Given the description of an element on the screen output the (x, y) to click on. 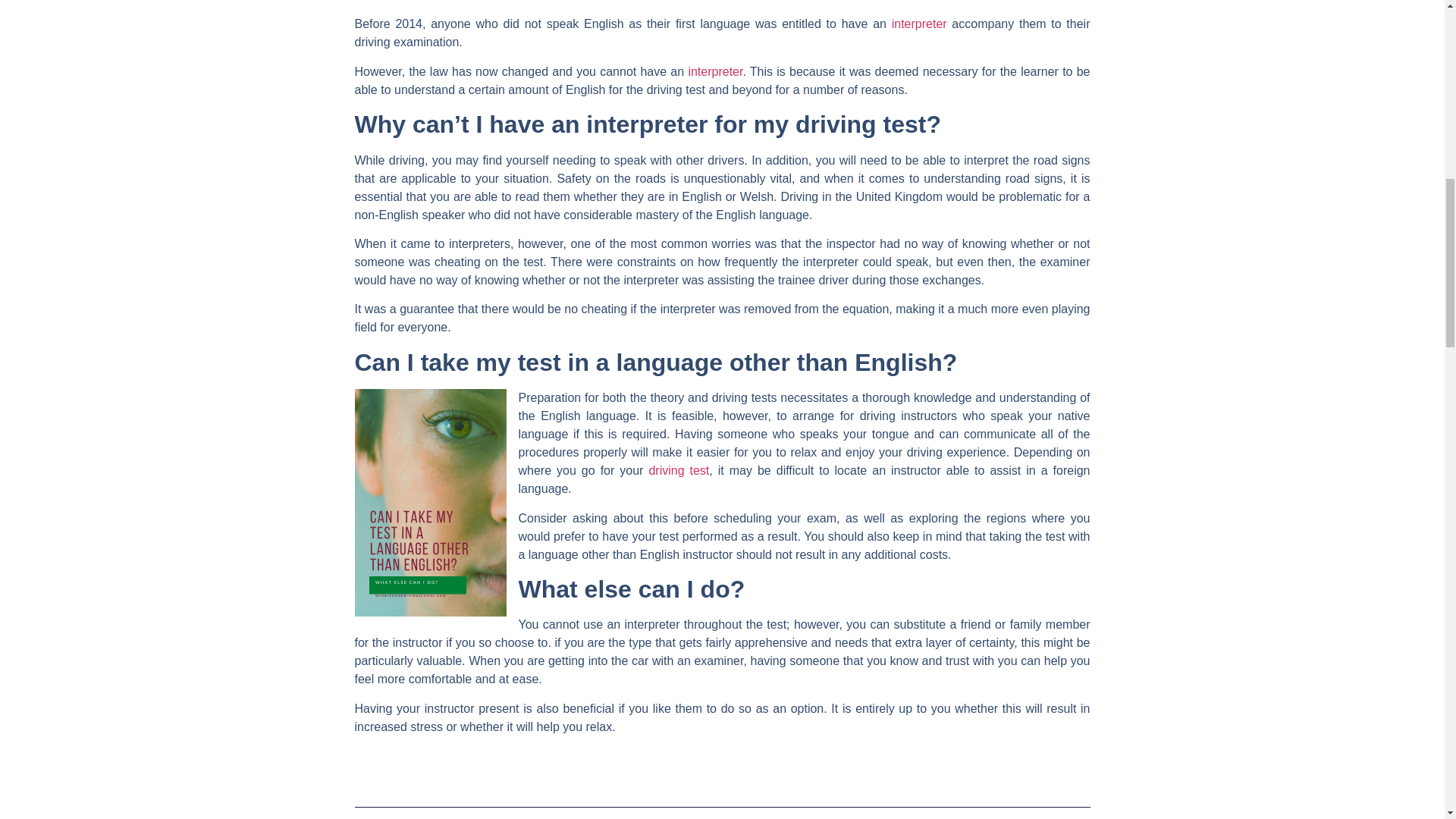
interpreter (714, 71)
driving test (678, 470)
interpreter (919, 23)
